Given the description of an element on the screen output the (x, y) to click on. 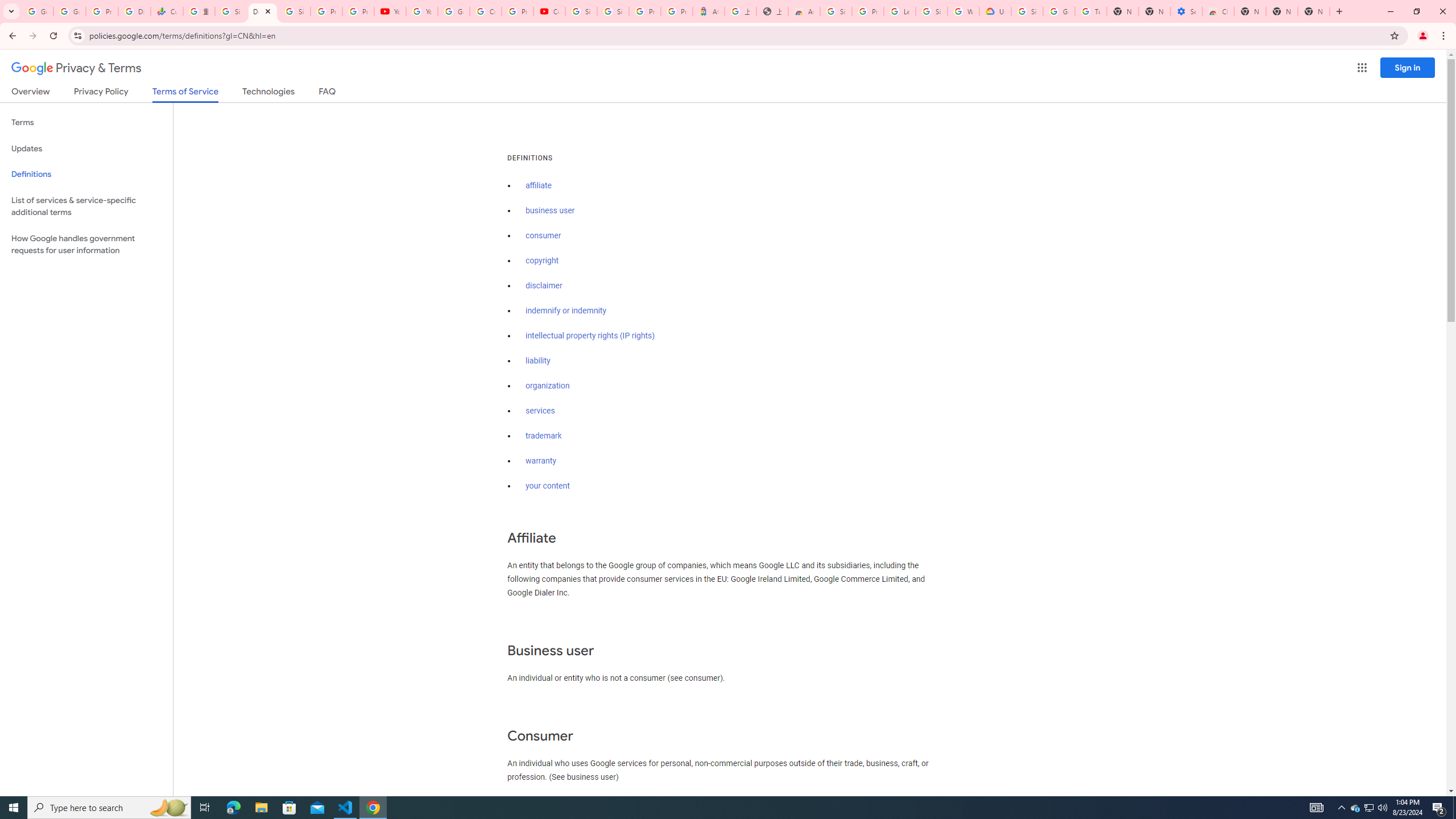
Sign in - Google Accounts (230, 11)
New Tab (1249, 11)
Create your Google Account (485, 11)
YouTube (389, 11)
services (539, 411)
organization (547, 385)
